Given the description of an element on the screen output the (x, y) to click on. 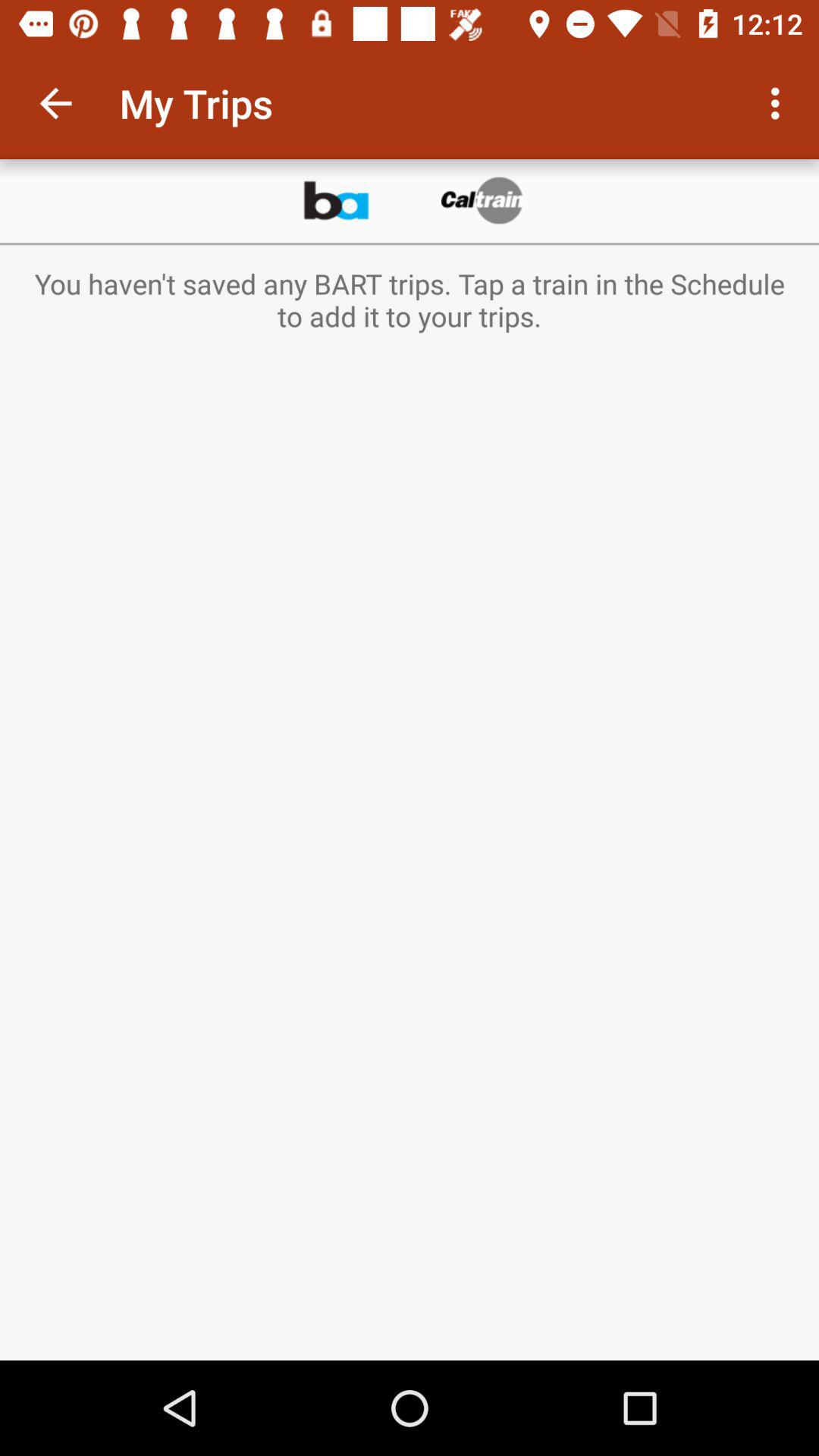
select the item to the left of my trips item (55, 103)
